Given the description of an element on the screen output the (x, y) to click on. 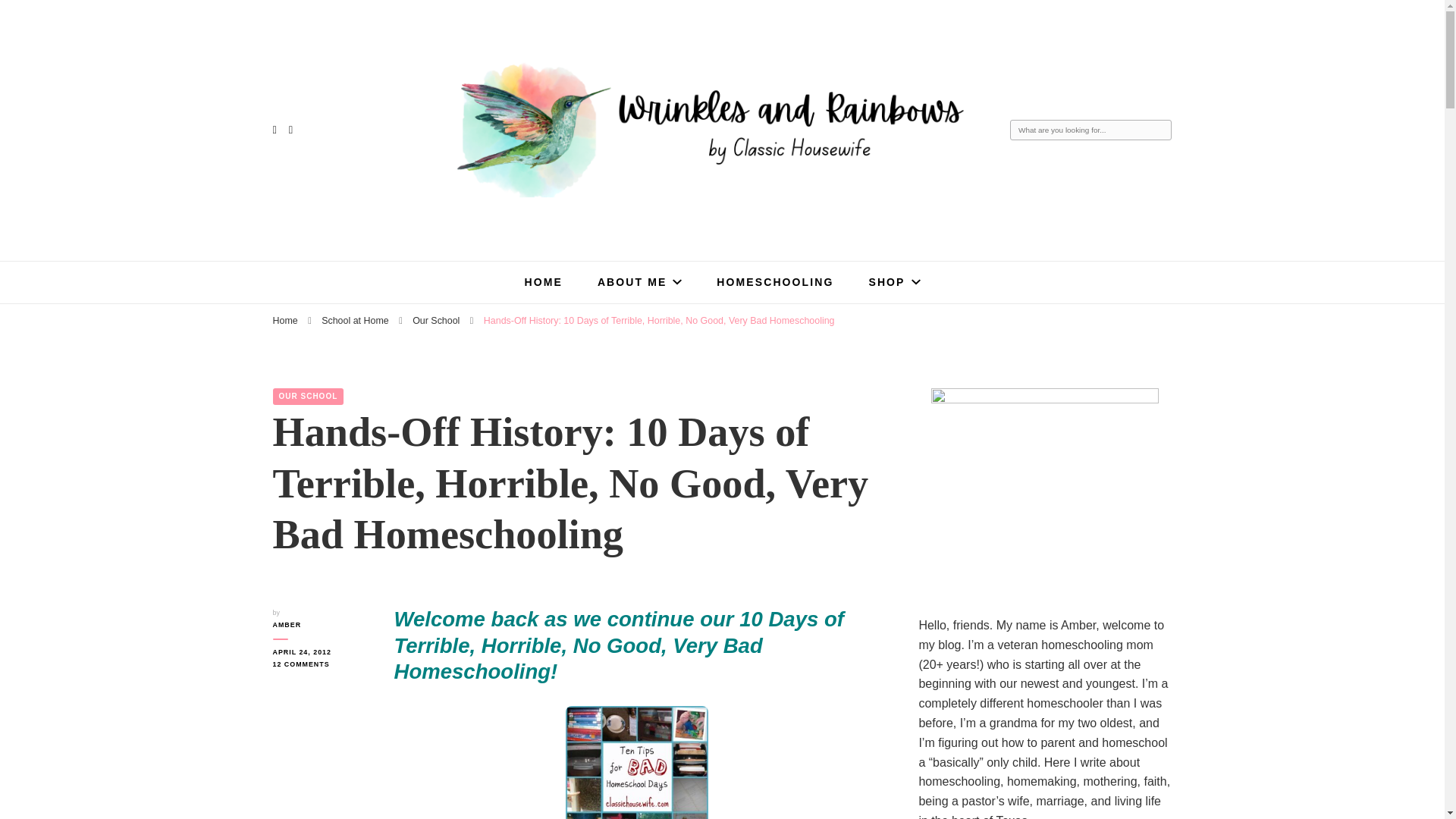
Search (1161, 131)
Search (1161, 131)
Wrinkles and Rainbows (576, 225)
ABOUT ME (638, 282)
Search (1161, 131)
SHOP (893, 282)
HOME (543, 282)
10Days (636, 762)
HOMESCHOOLING (774, 282)
